Given the description of an element on the screen output the (x, y) to click on. 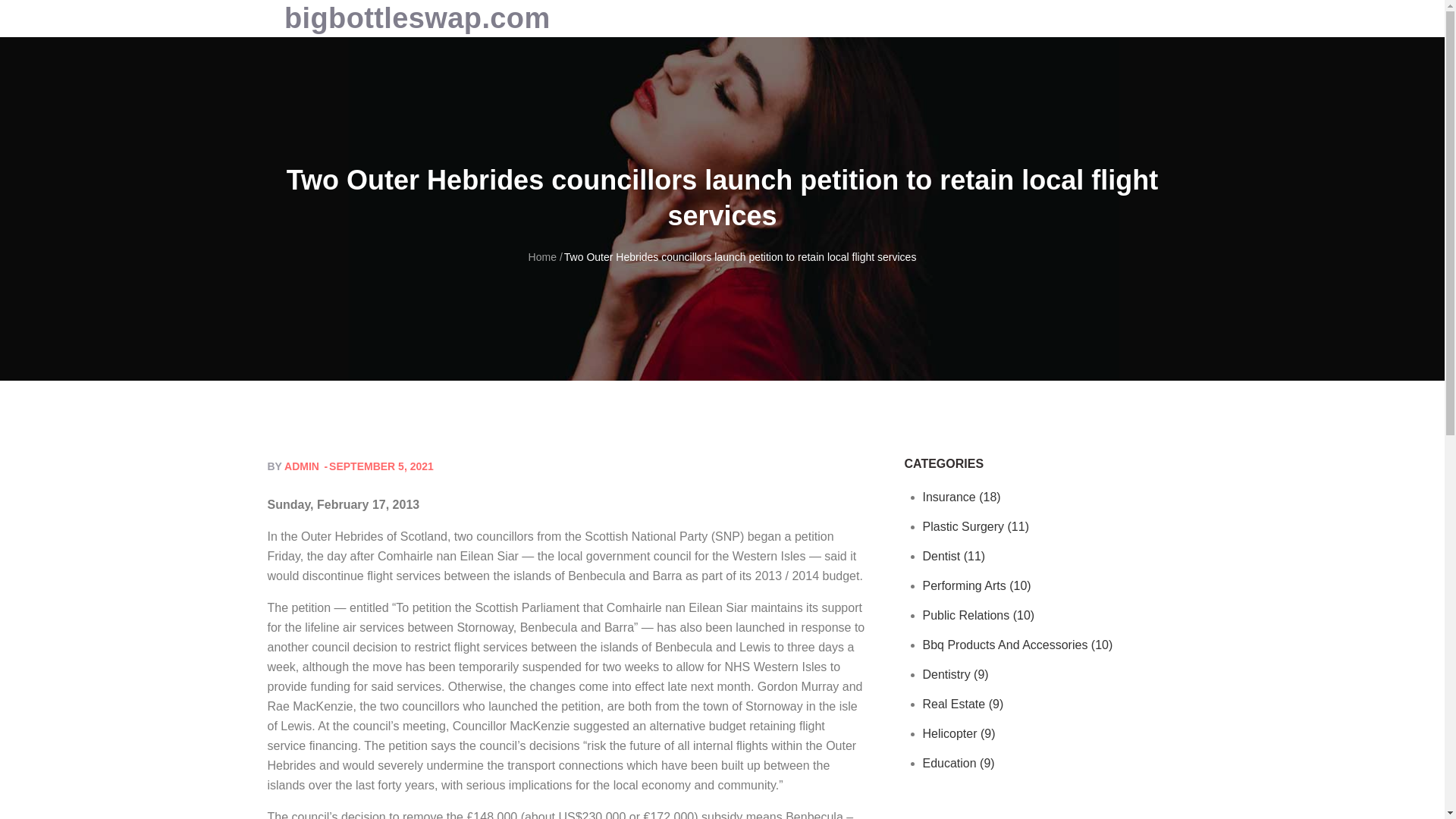
ADMIN (300, 466)
bigbottleswap.com (416, 18)
SEPTEMBER 5, 2021 (376, 466)
Home (542, 256)
